Given the description of an element on the screen output the (x, y) to click on. 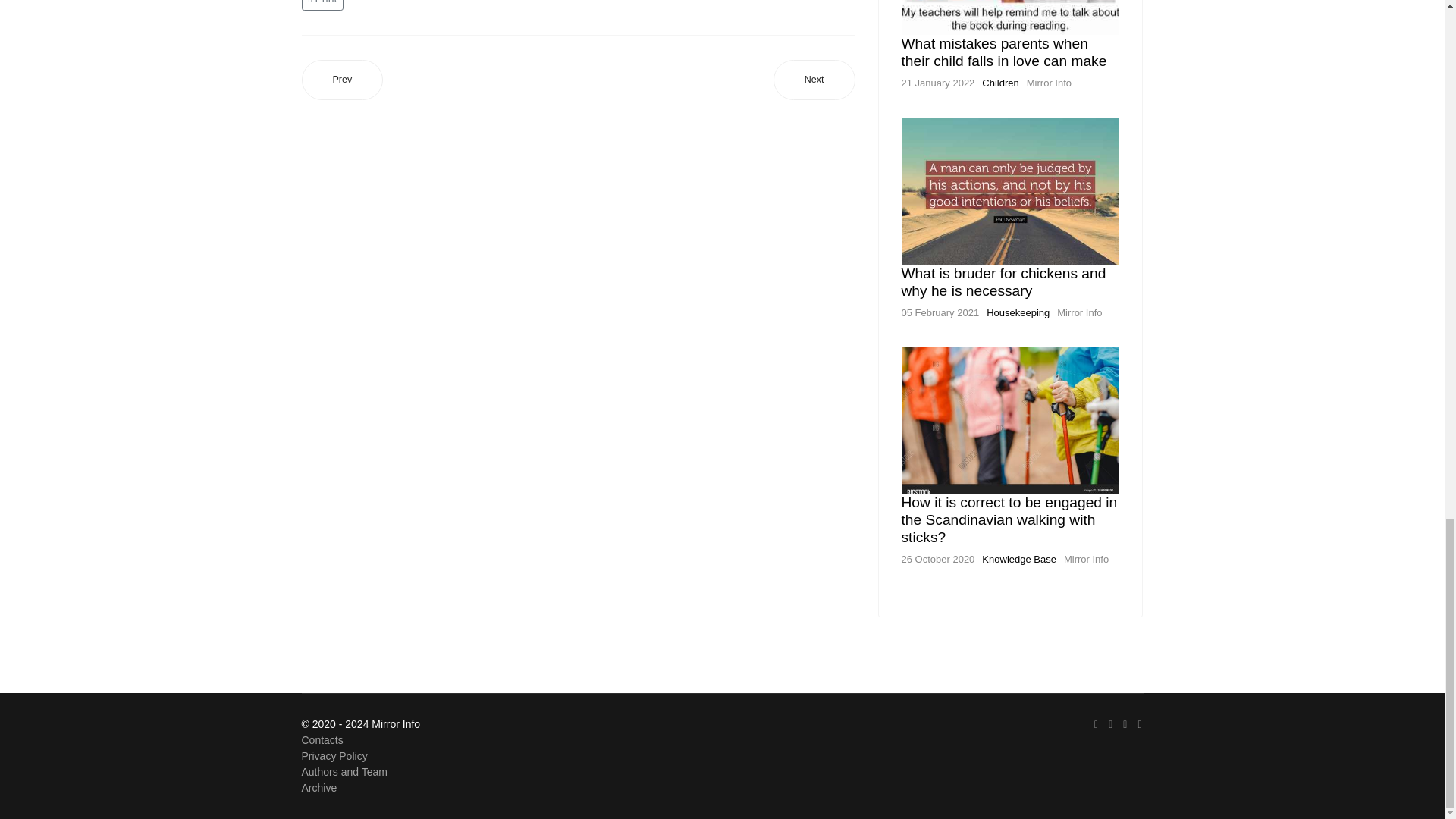
Prev (342, 79)
Next (814, 79)
Print (324, 2)
